Given the description of an element on the screen output the (x, y) to click on. 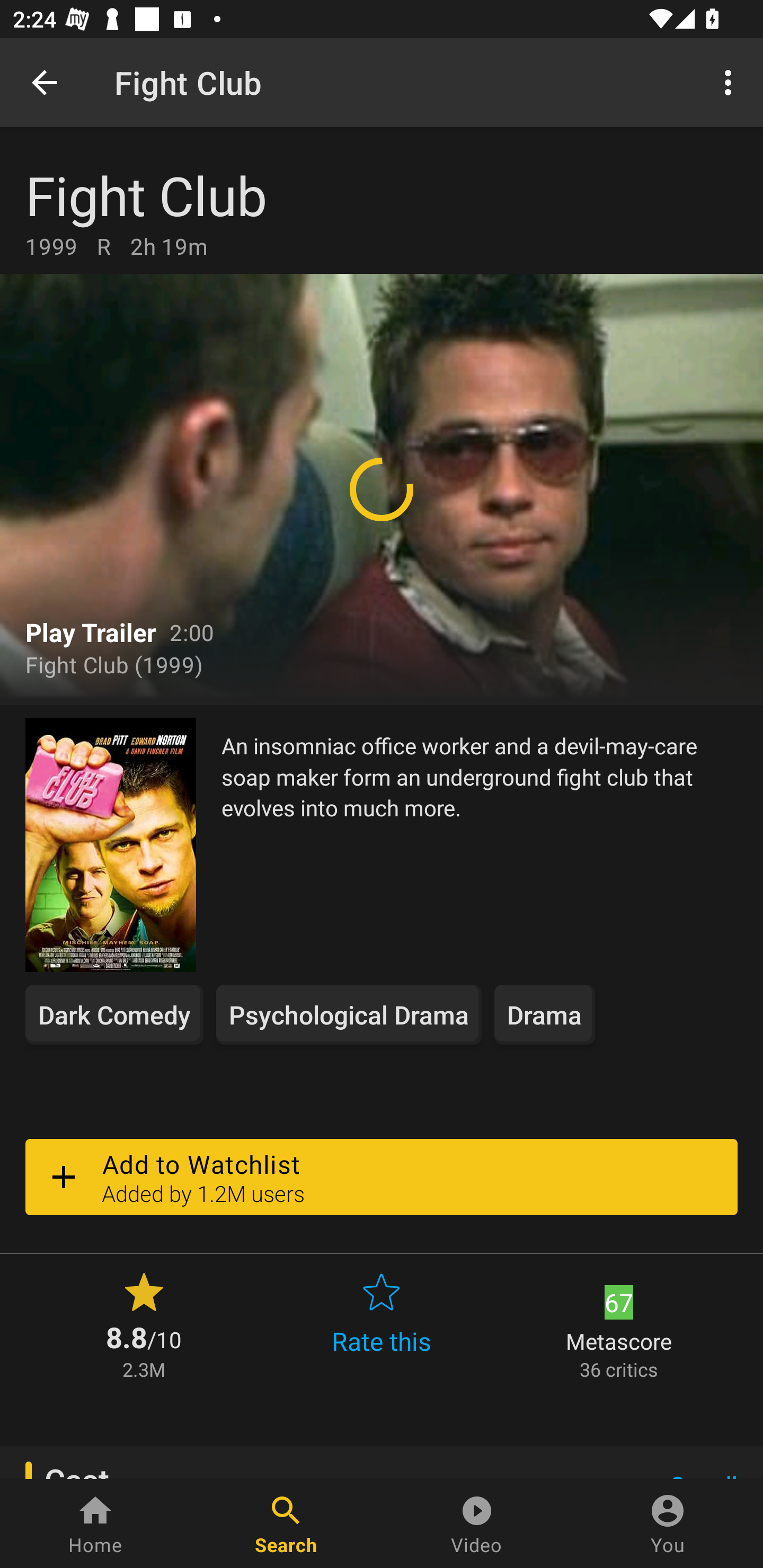
More options (731, 81)
Dark Comedy (114, 1014)
Psychological Drama (348, 1014)
Drama (544, 1014)
Add to Watchlist Added by 1.2M users (381, 1176)
8.8 /10 2.3M (143, 1323)
Rate this (381, 1323)
67 Metascore 36 critics (618, 1323)
Home (95, 1523)
Video (476, 1523)
You (667, 1523)
